Given the description of an element on the screen output the (x, y) to click on. 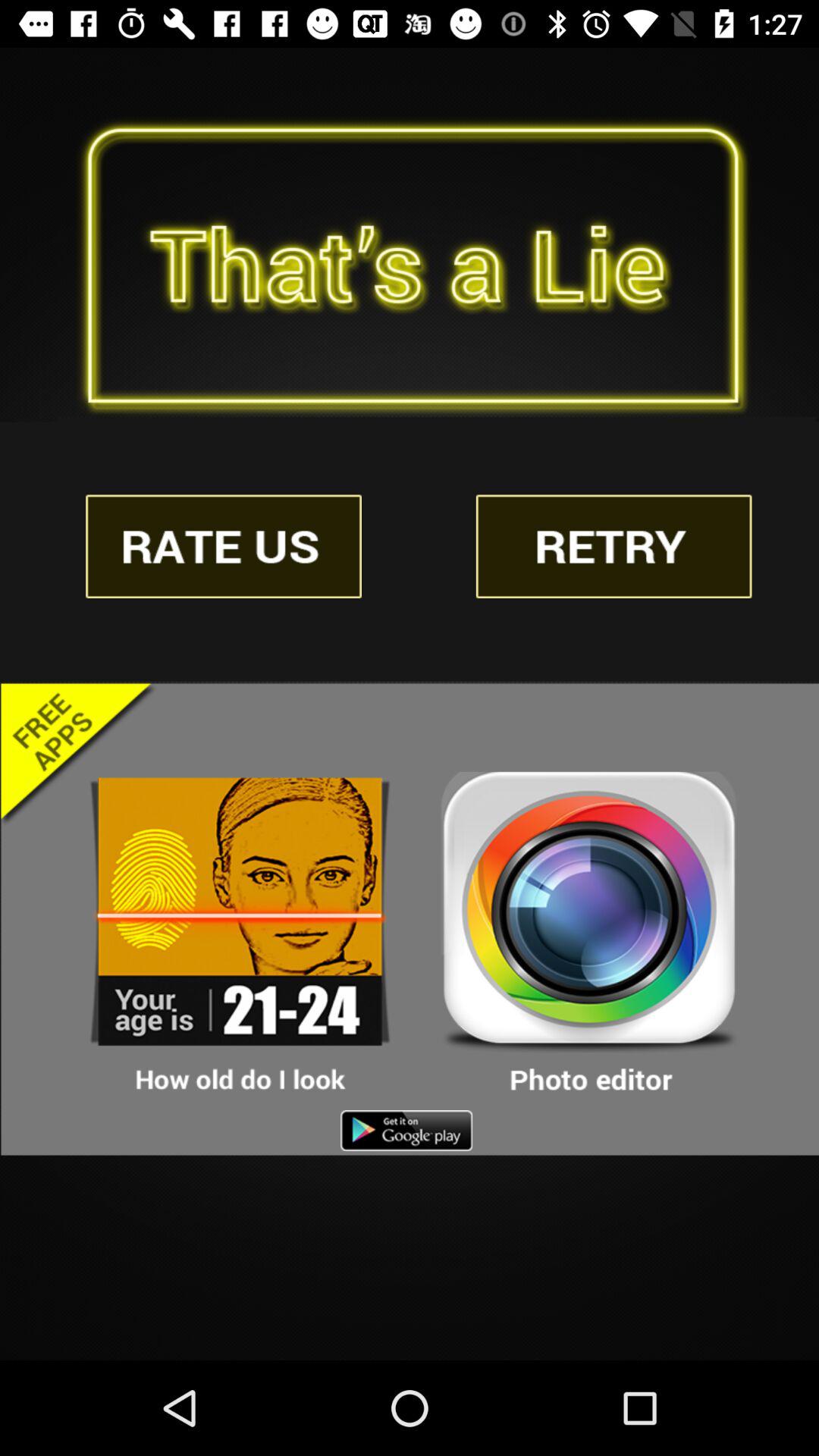
open app (589, 933)
